Given the description of an element on the screen output the (x, y) to click on. 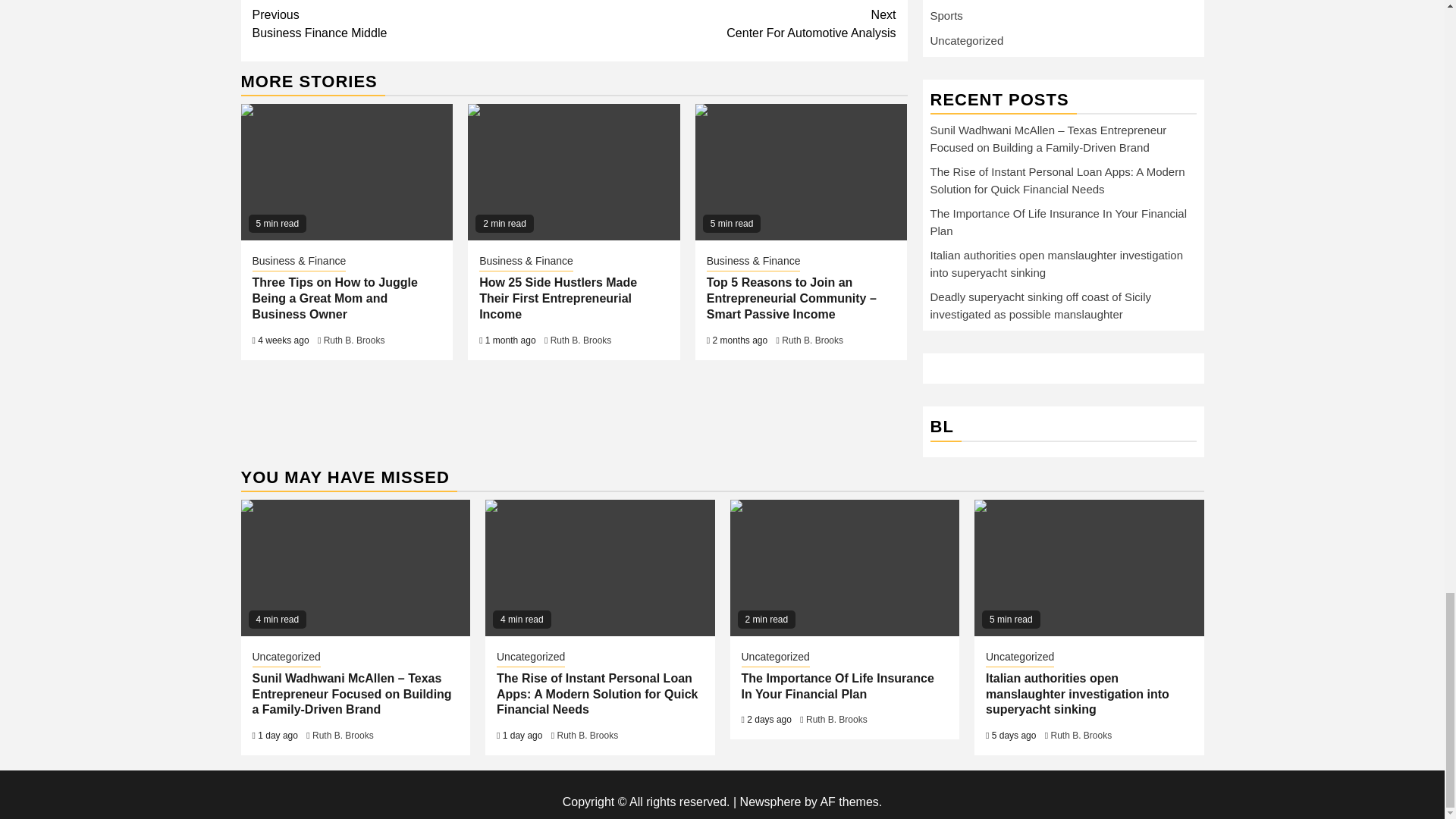
How 25 Side Hustlers Made Their First Entrepreneurial Income (573, 172)
